Given the description of an element on the screen output the (x, y) to click on. 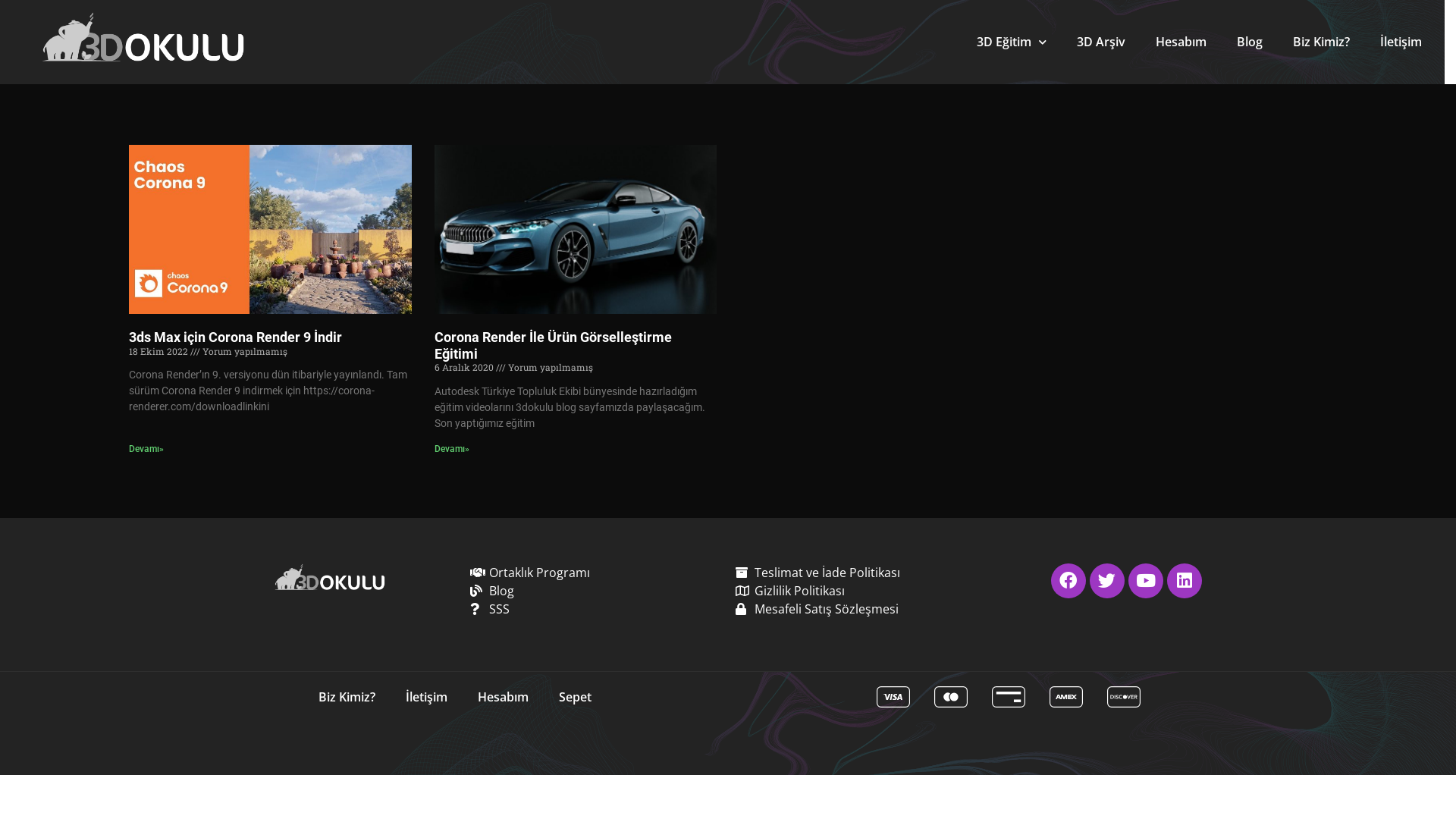
Biz Kimiz? Element type: text (1321, 41)
Blog Element type: text (595, 590)
SSS Element type: text (595, 608)
Biz Kimiz? Element type: text (346, 696)
Blog Element type: text (1249, 41)
Sepet Element type: text (574, 696)
